Given the description of an element on the screen output the (x, y) to click on. 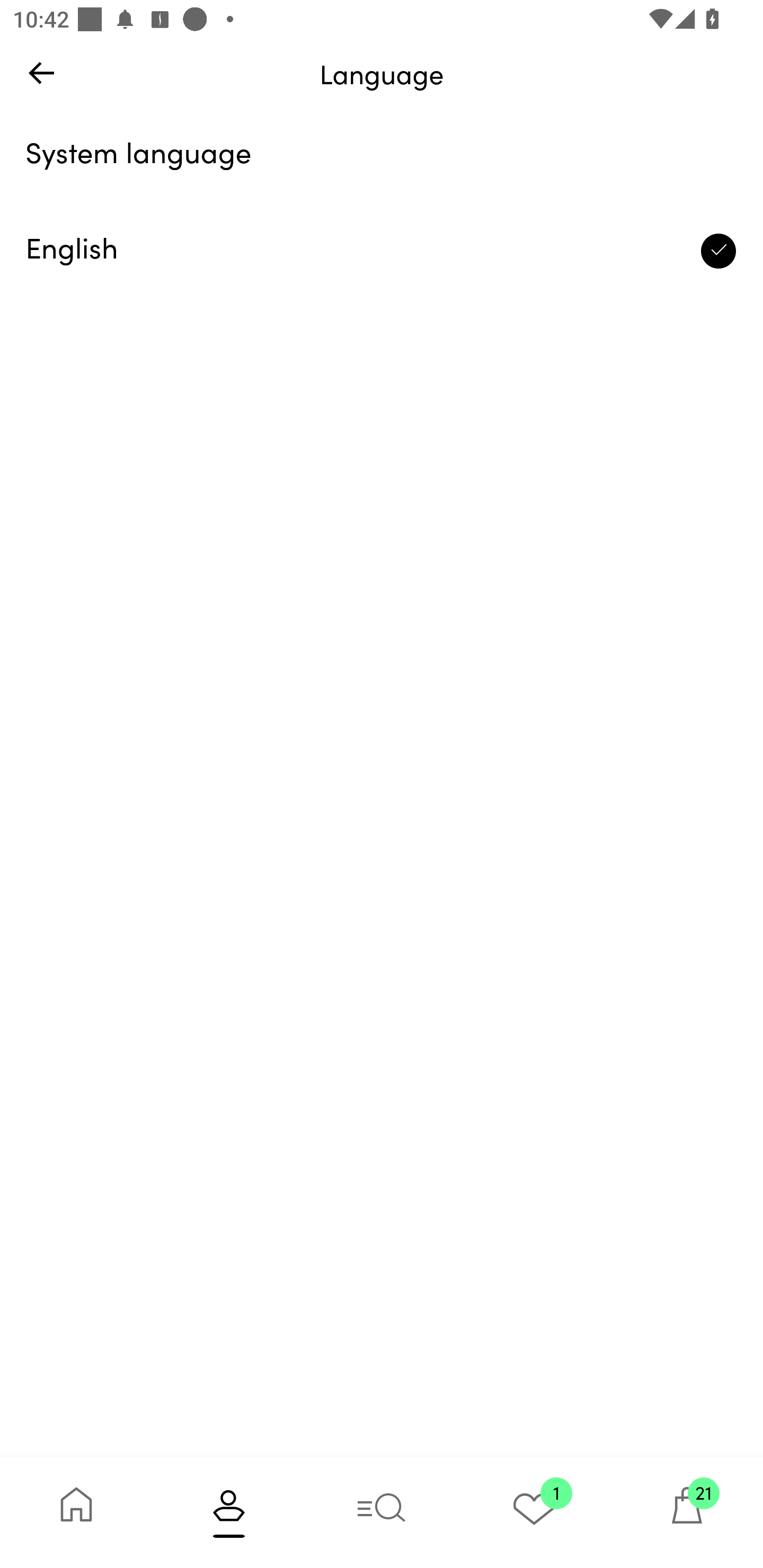
System language (381, 155)
English  (381, 251)
1 (533, 1512)
21 (686, 1512)
